Given the description of an element on the screen output the (x, y) to click on. 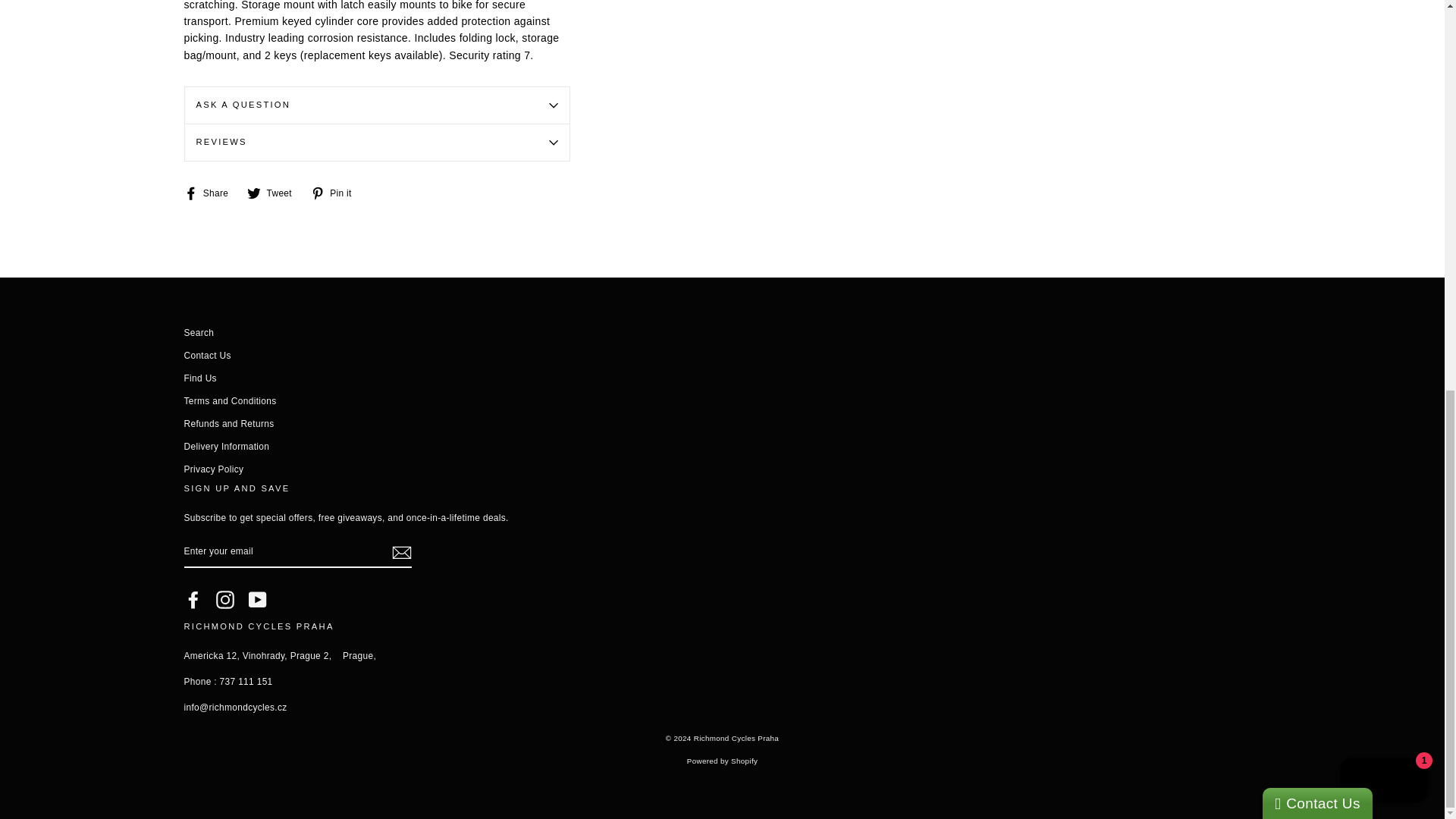
Richmond Cycles Praha on Facebook (192, 599)
Tweet on Twitter (274, 192)
Richmond Cycles Praha on Instagram (224, 599)
Pin on Pinterest (336, 192)
Share on Facebook (211, 192)
Richmond Cycles Praha on YouTube (257, 599)
Shopify online store chat (1383, 38)
